Given the description of an element on the screen output the (x, y) to click on. 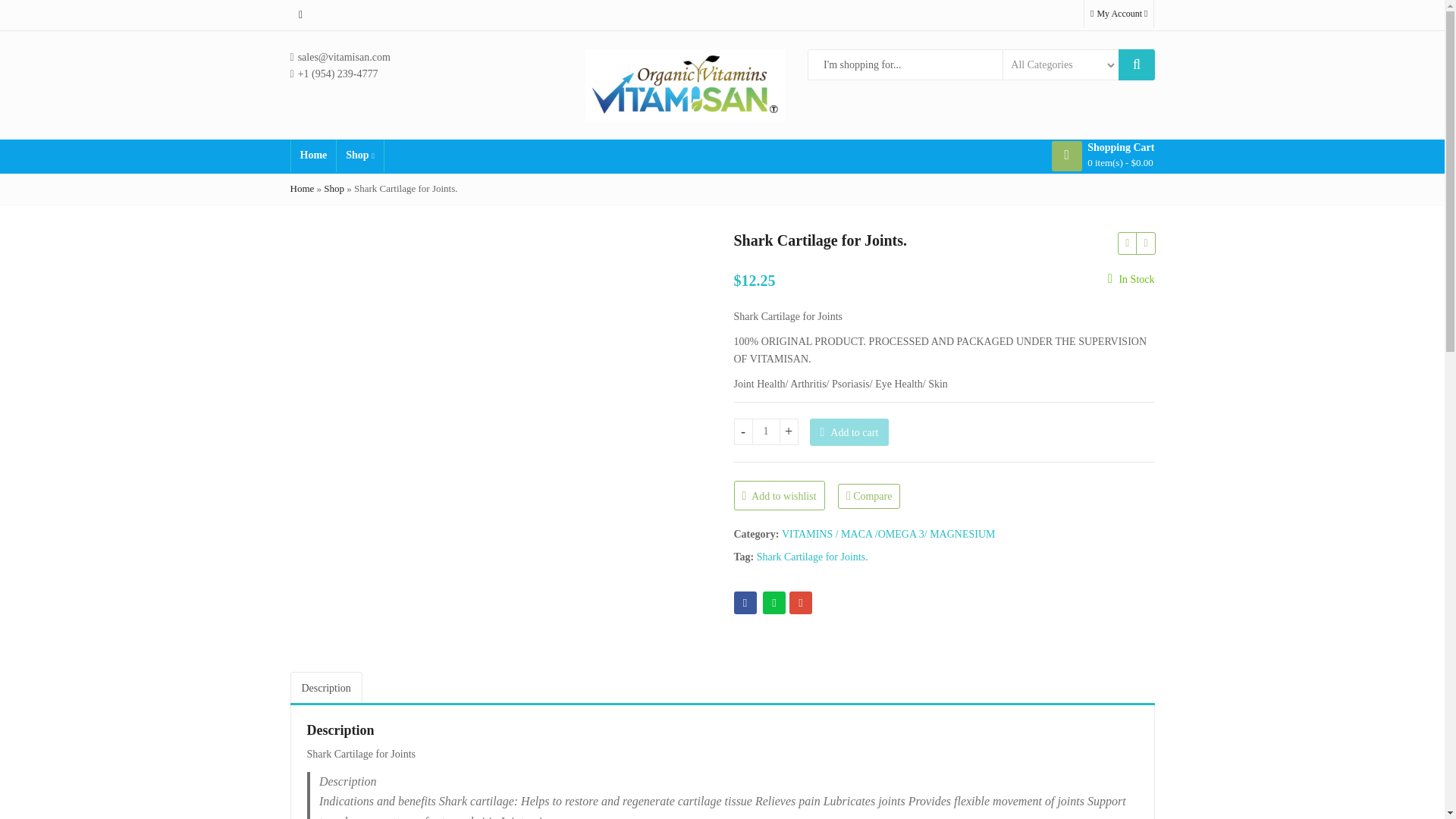
My Account (1118, 13)
Share on Facebook (745, 602)
Share on WhatsApp (774, 602)
1 (765, 431)
Home (301, 188)
Qty (765, 431)
Shop (333, 188)
Shop (360, 155)
Share on Email (800, 602)
Home (313, 155)
